Given the description of an element on the screen output the (x, y) to click on. 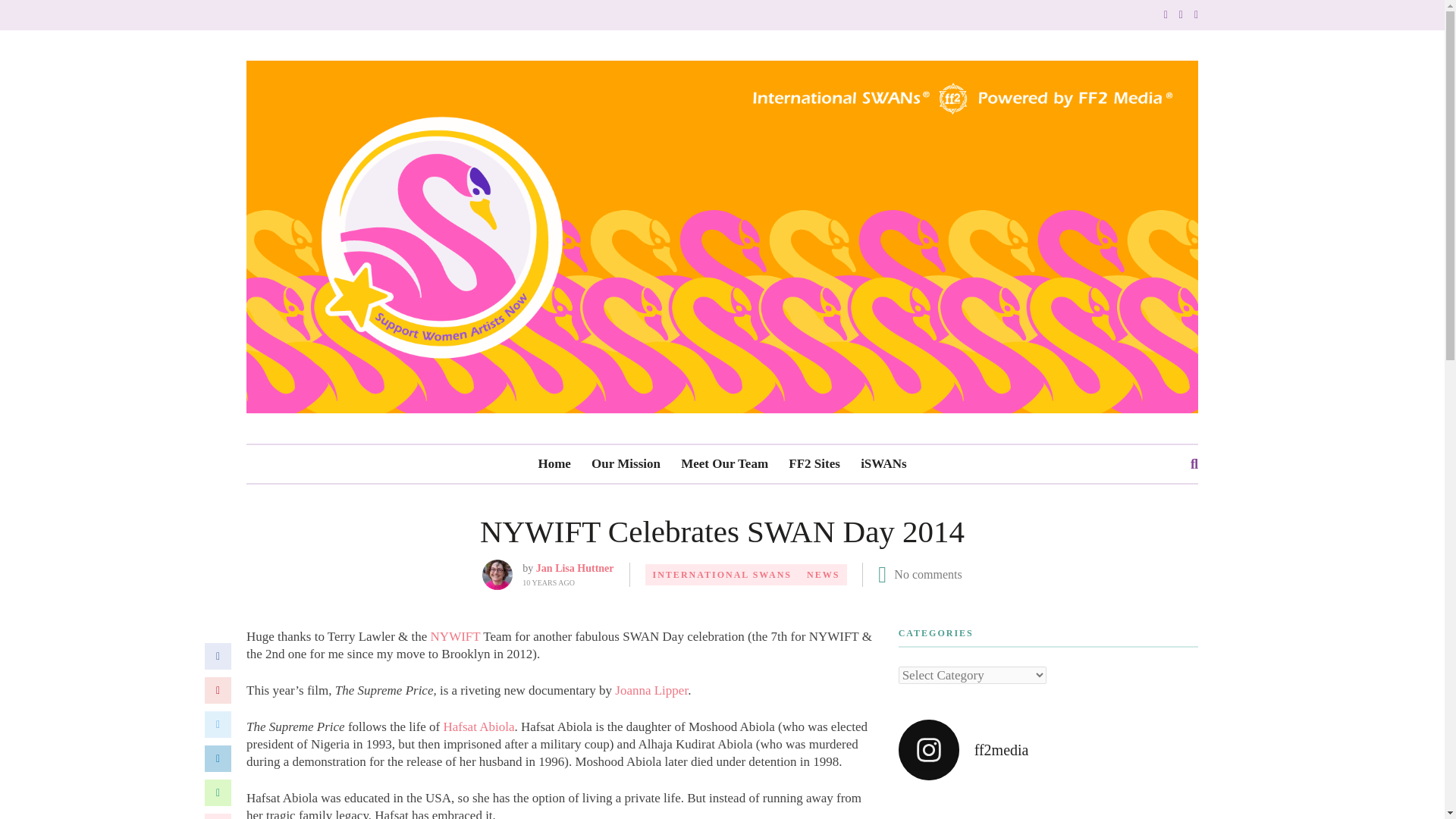
No comments (926, 574)
iSWANs (882, 464)
Our Mission (626, 464)
Hafsat Abiola (479, 726)
FF2 Sites (814, 464)
Jan Lisa Huttner (574, 568)
Joanna Lipper (650, 690)
NYWIFT (455, 636)
Meet Our Team (724, 464)
NEWS (823, 574)
INTERNATIONAL SWANS (722, 574)
